Given the description of an element on the screen output the (x, y) to click on. 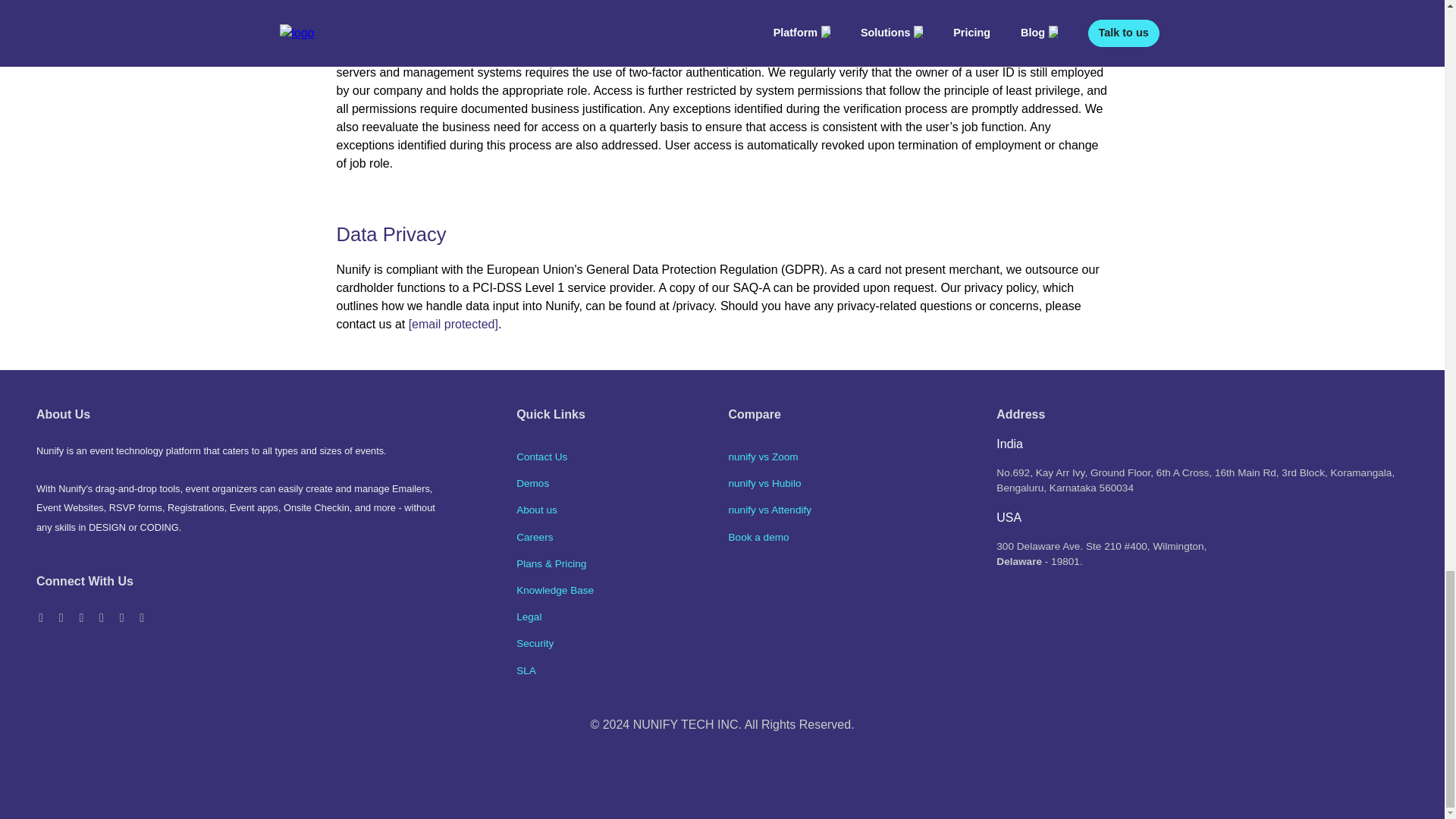
nunify vs Zoom (762, 456)
Legal (528, 616)
Contact Us (541, 456)
nunify vs Attendify (769, 509)
Knowledge Base (555, 590)
About us (536, 509)
Demos (532, 482)
SLA (525, 670)
Careers (534, 536)
nunify vs Hubilo (764, 482)
